Given the description of an element on the screen output the (x, y) to click on. 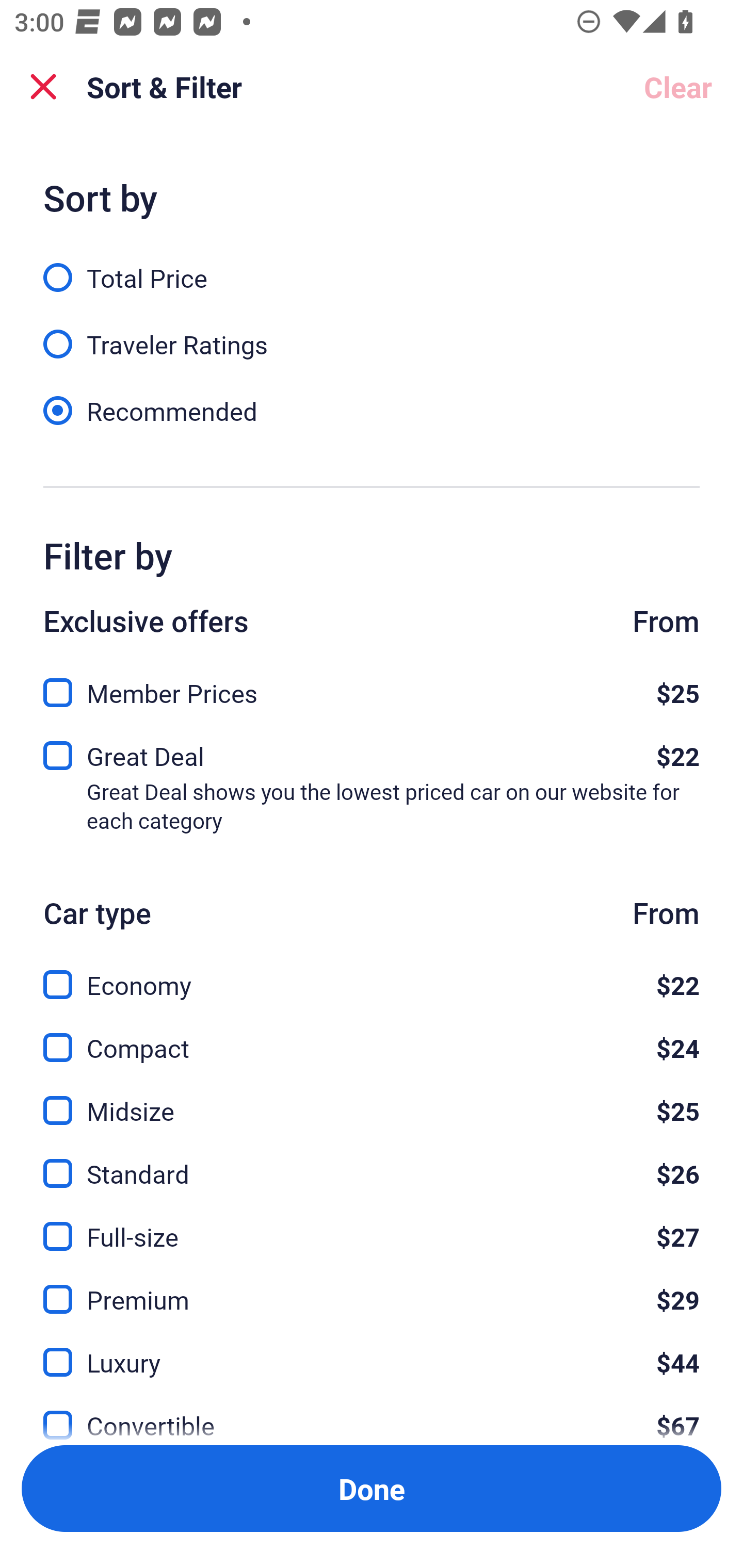
Close Sort and Filter (43, 86)
Clear (677, 86)
Total Price (371, 266)
Traveler Ratings (371, 332)
Member Prices, $25 Member Prices $25 (371, 686)
Economy, $22 Economy $22 (371, 973)
Compact, $24 Compact $24 (371, 1036)
Midsize, $25 Midsize $25 (371, 1098)
Standard, $26 Standard $26 (371, 1161)
Full-size, $27 Full-size $27 (371, 1224)
Premium, $29 Premium $29 (371, 1286)
Luxury, $44 Luxury $44 (371, 1350)
Convertible, $67 Convertible $67 (371, 1413)
Apply and close Sort and Filter Done (371, 1488)
